Given the description of an element on the screen output the (x, y) to click on. 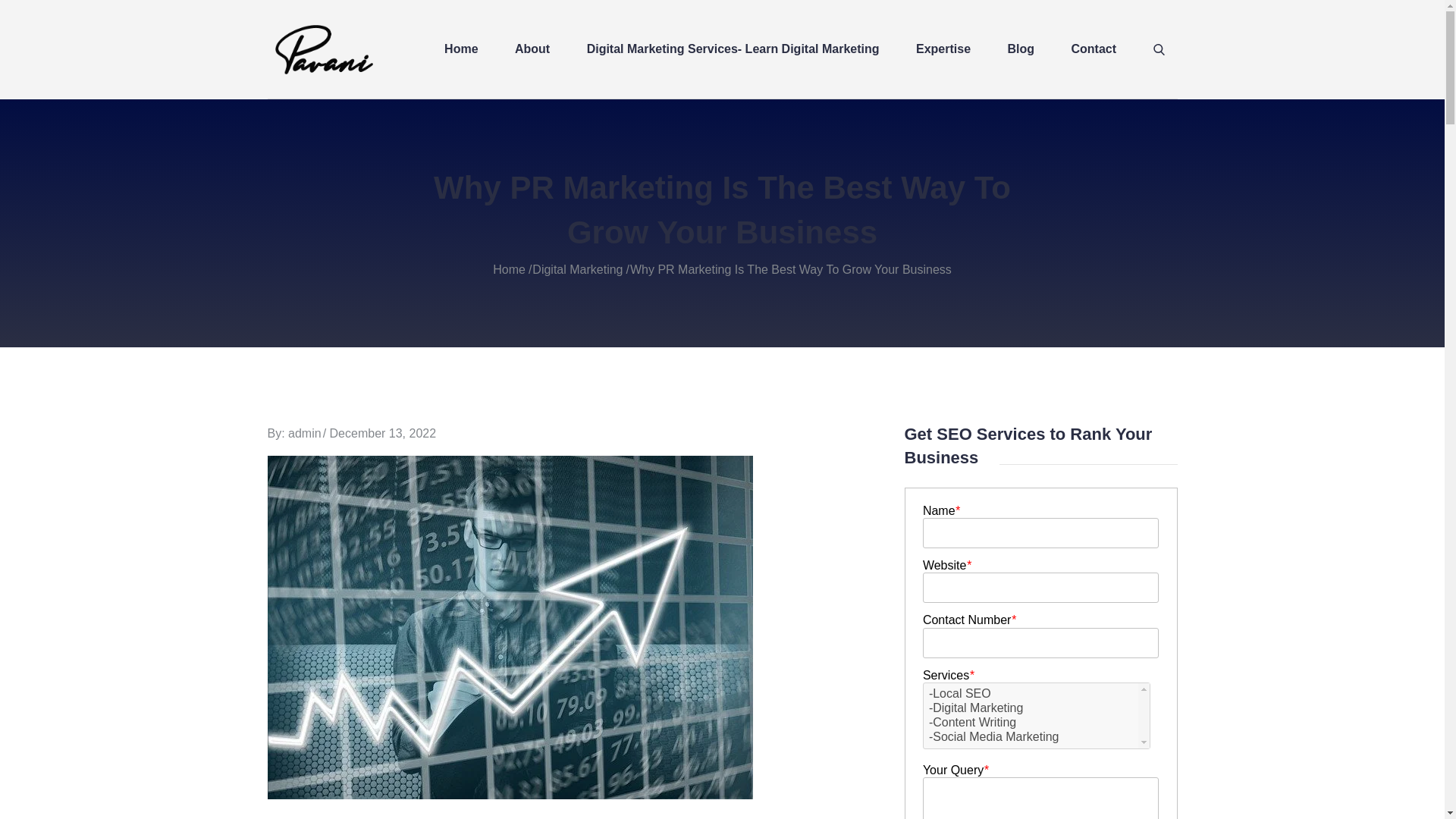
Digital Marketing (577, 269)
Digital Marketing Services- Learn Digital Marketing (733, 49)
December 13, 2022 (383, 432)
Expertise (943, 49)
admin (304, 432)
Home (509, 269)
